Given the description of an element on the screen output the (x, y) to click on. 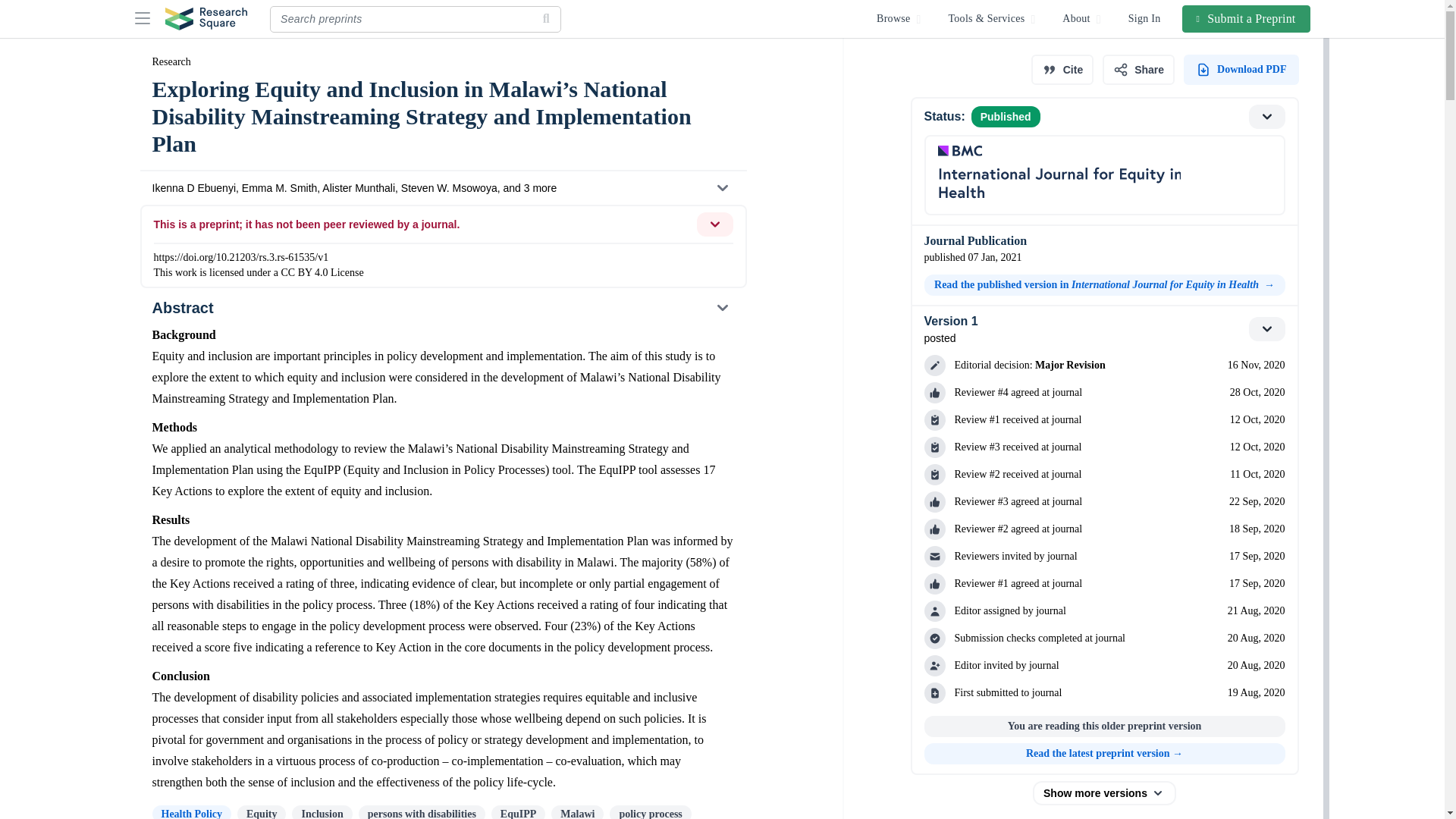
Health Policy (191, 812)
Sign In (1144, 18)
Submit a Preprint (1246, 18)
Abstract (442, 307)
